Given the description of an element on the screen output the (x, y) to click on. 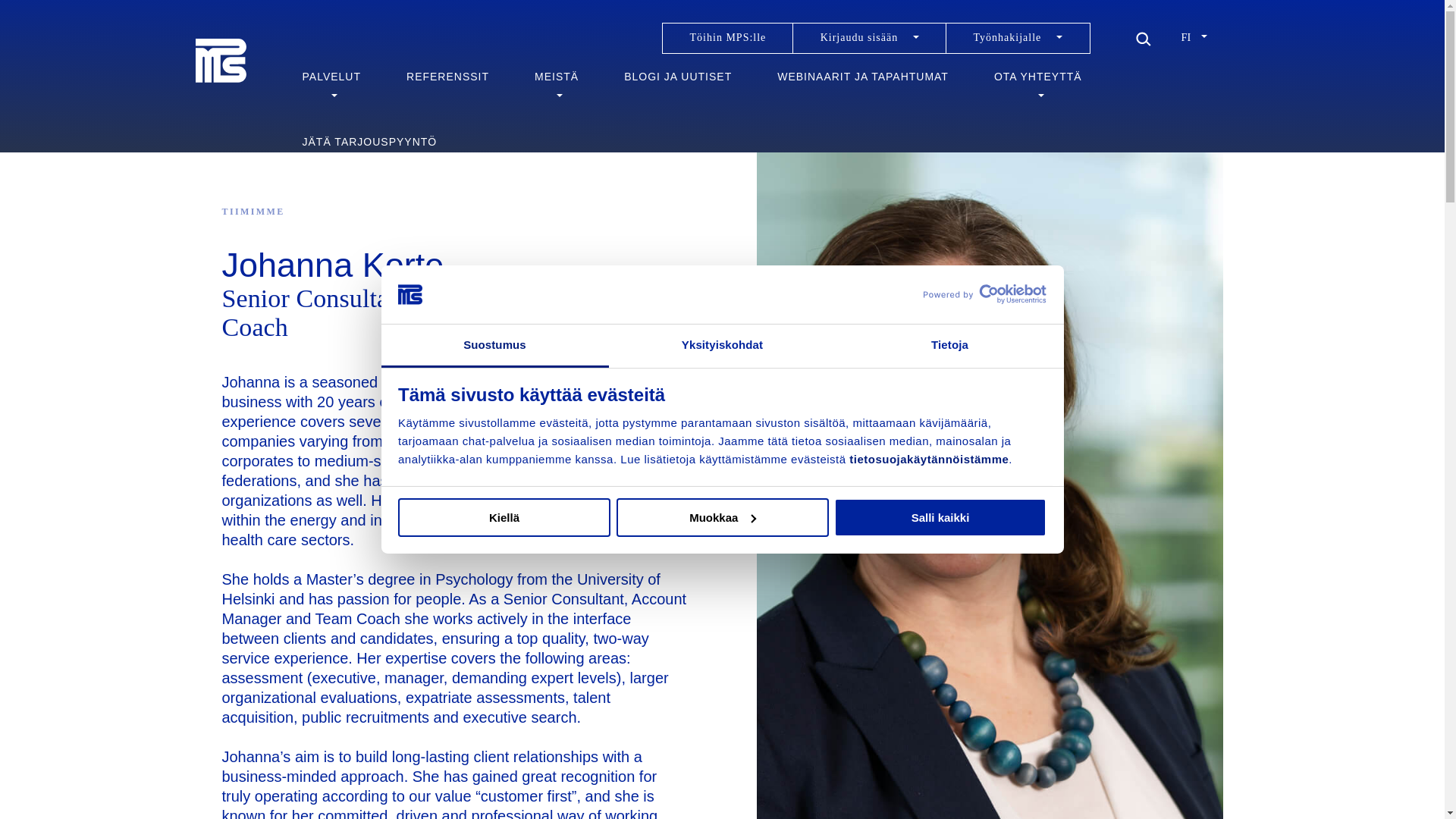
Yksityiskohdat (721, 345)
Suostumus (494, 345)
Tietoja (948, 345)
